Given the description of an element on the screen output the (x, y) to click on. 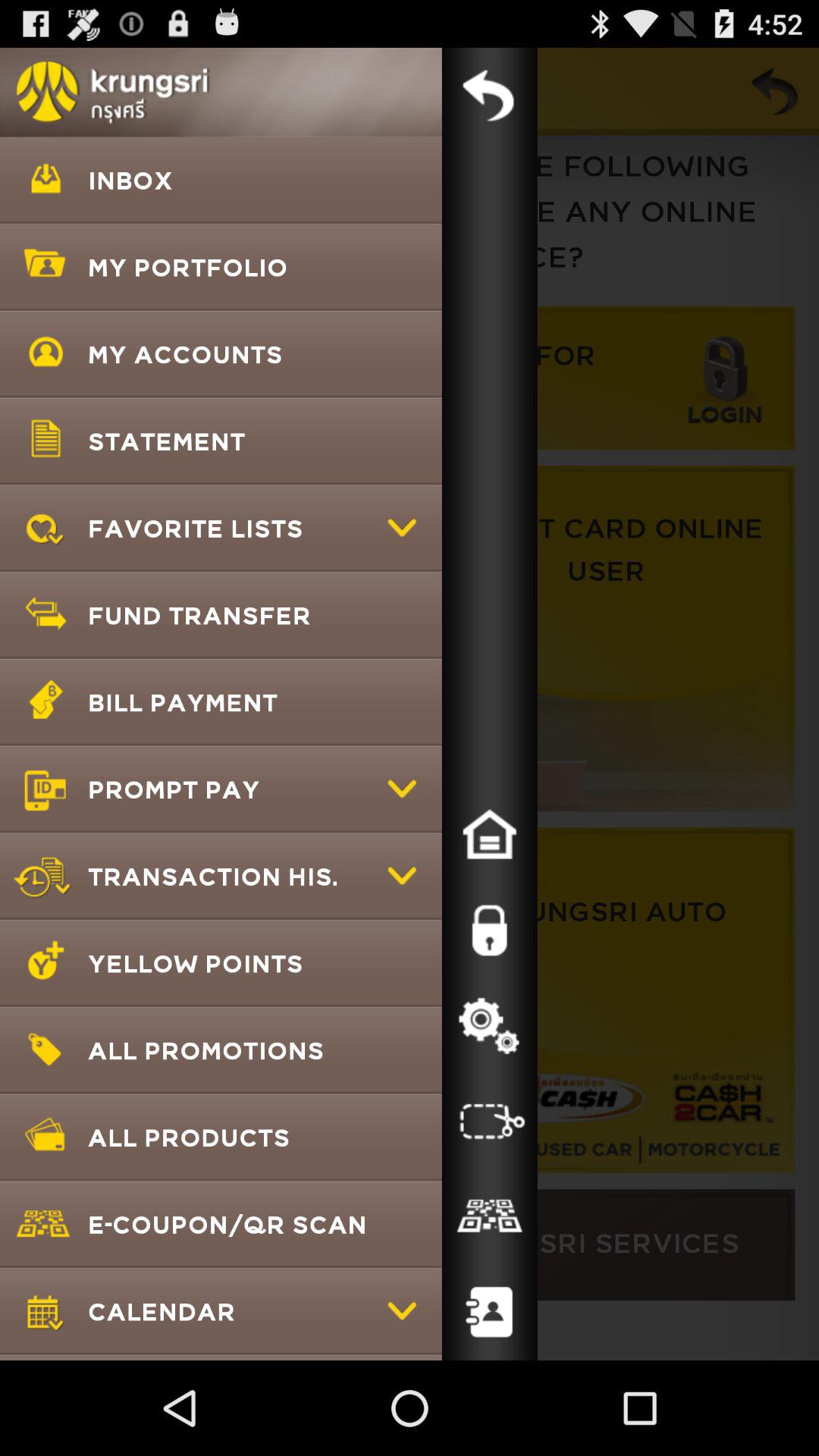
click on contact (489, 1312)
